Given the description of an element on the screen output the (x, y) to click on. 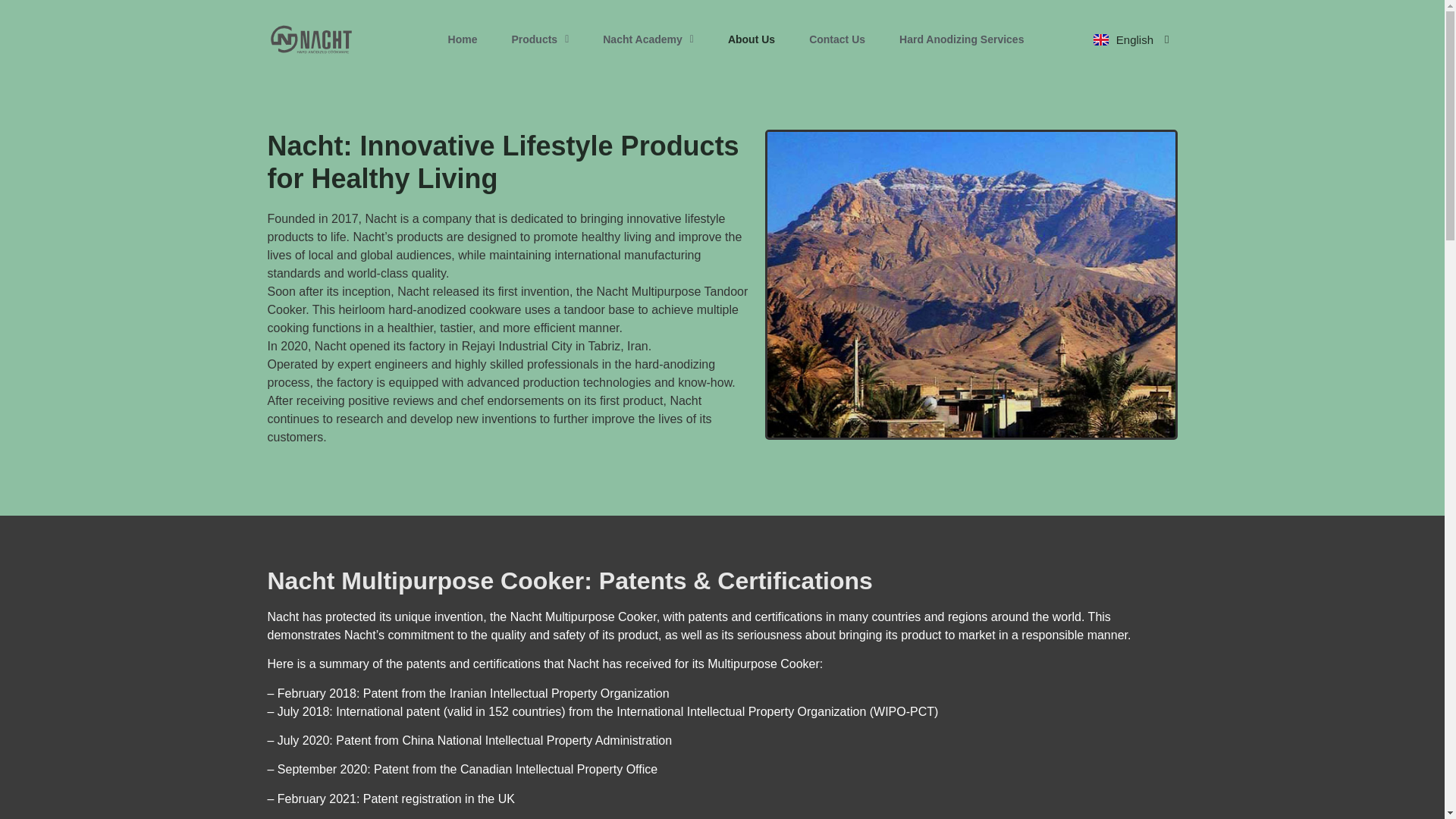
Contact Us (836, 38)
Hard Anodizing Services (961, 39)
Home (462, 21)
English (1130, 4)
Products (539, 23)
About Us (751, 38)
Nacht Academy (648, 33)
